Given the description of an element on the screen output the (x, y) to click on. 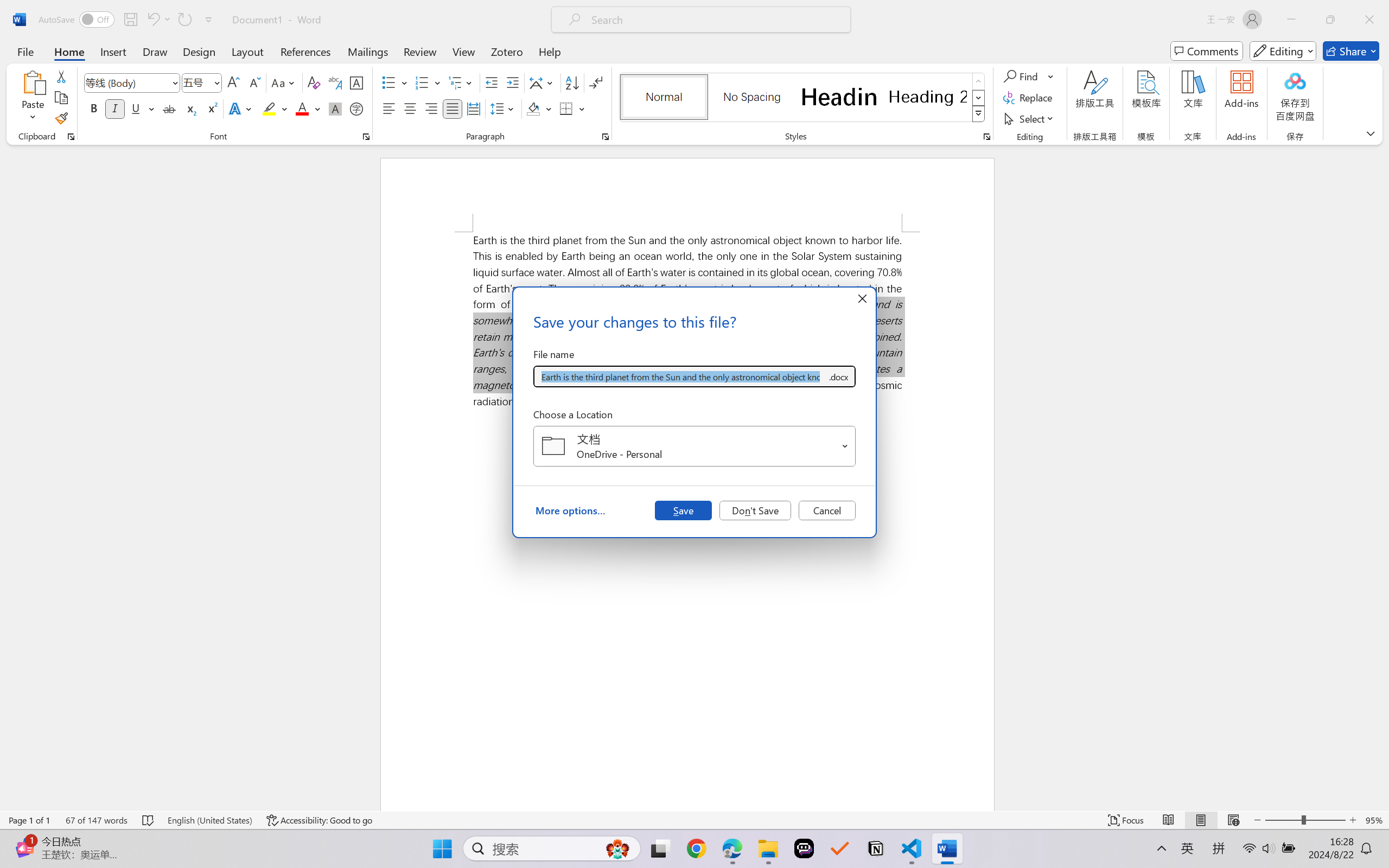
Distributed (473, 108)
Poe (804, 848)
Text Highlight Color (274, 108)
Character Shading (334, 108)
